Given the description of an element on the screen output the (x, y) to click on. 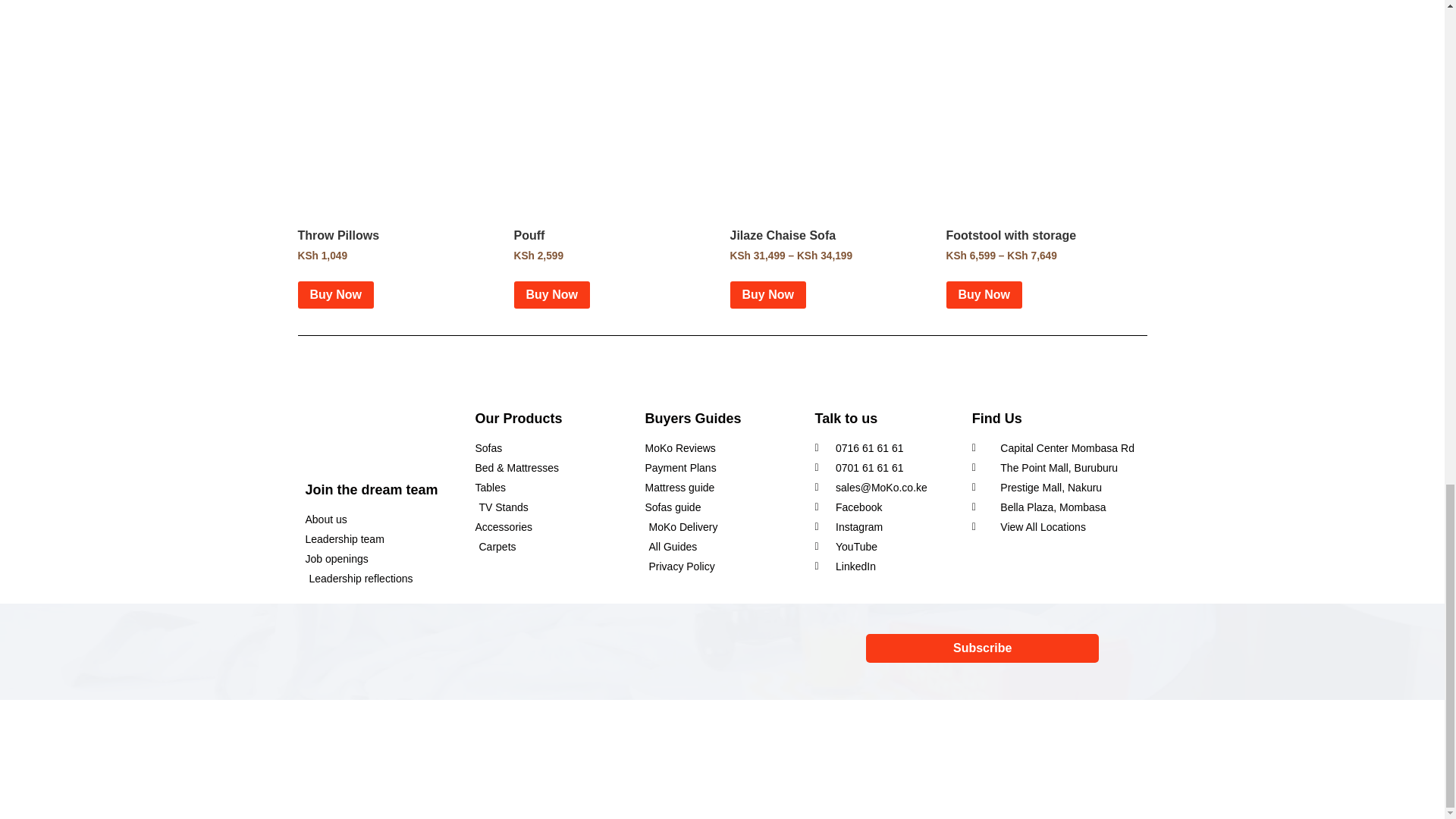
Chat (113, 757)
